Given the description of an element on the screen output the (x, y) to click on. 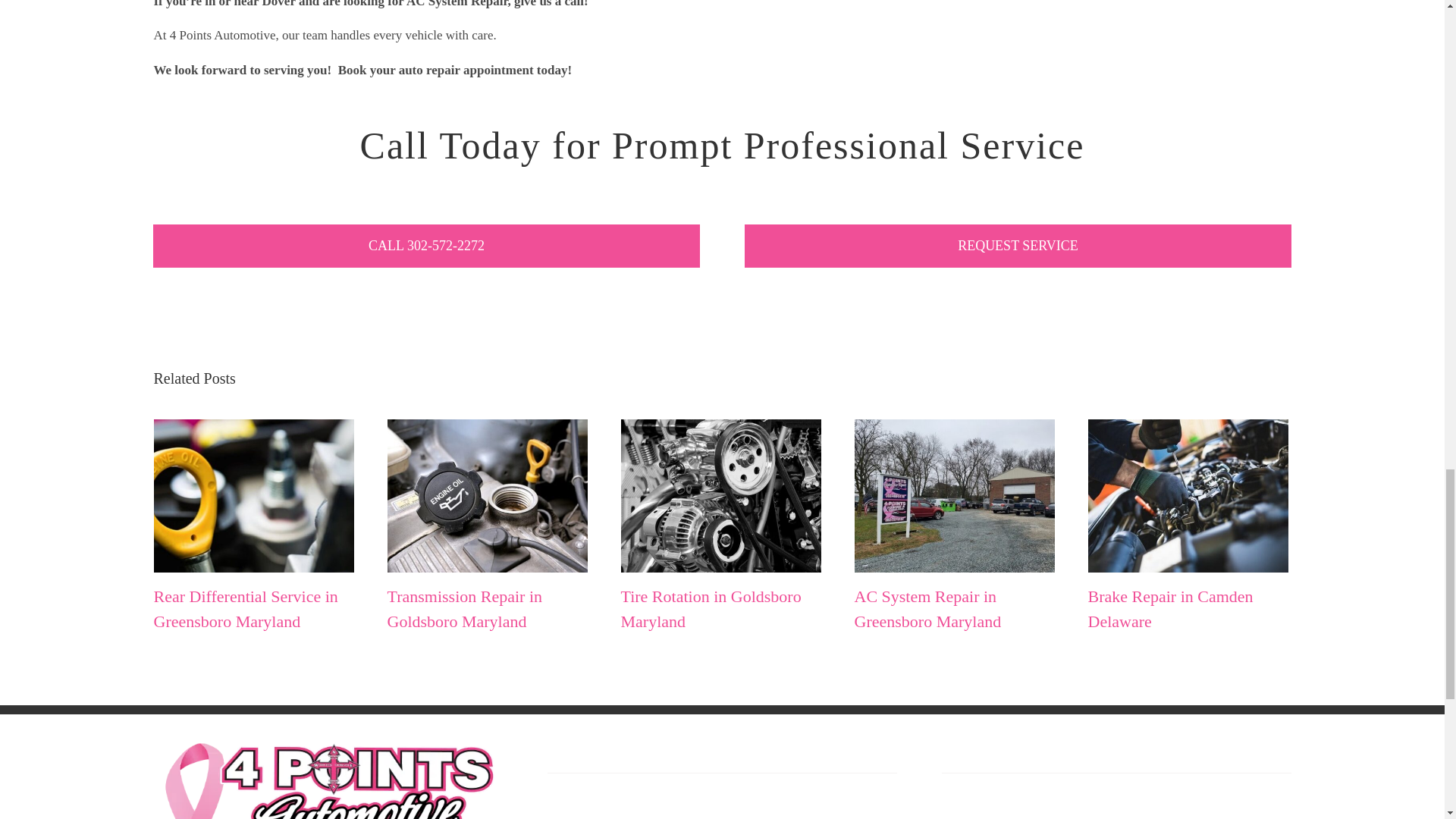
Brake Repair in Camden Delaware (1169, 608)
Transmission Repair in Goldsboro Maryland (464, 608)
Tire Rotation in Goldsboro Maryland (710, 608)
AC System Repair in Greensboro Maryland (927, 608)
Rear Differential Service in Greensboro Maryland (244, 608)
